Given the description of an element on the screen output the (x, y) to click on. 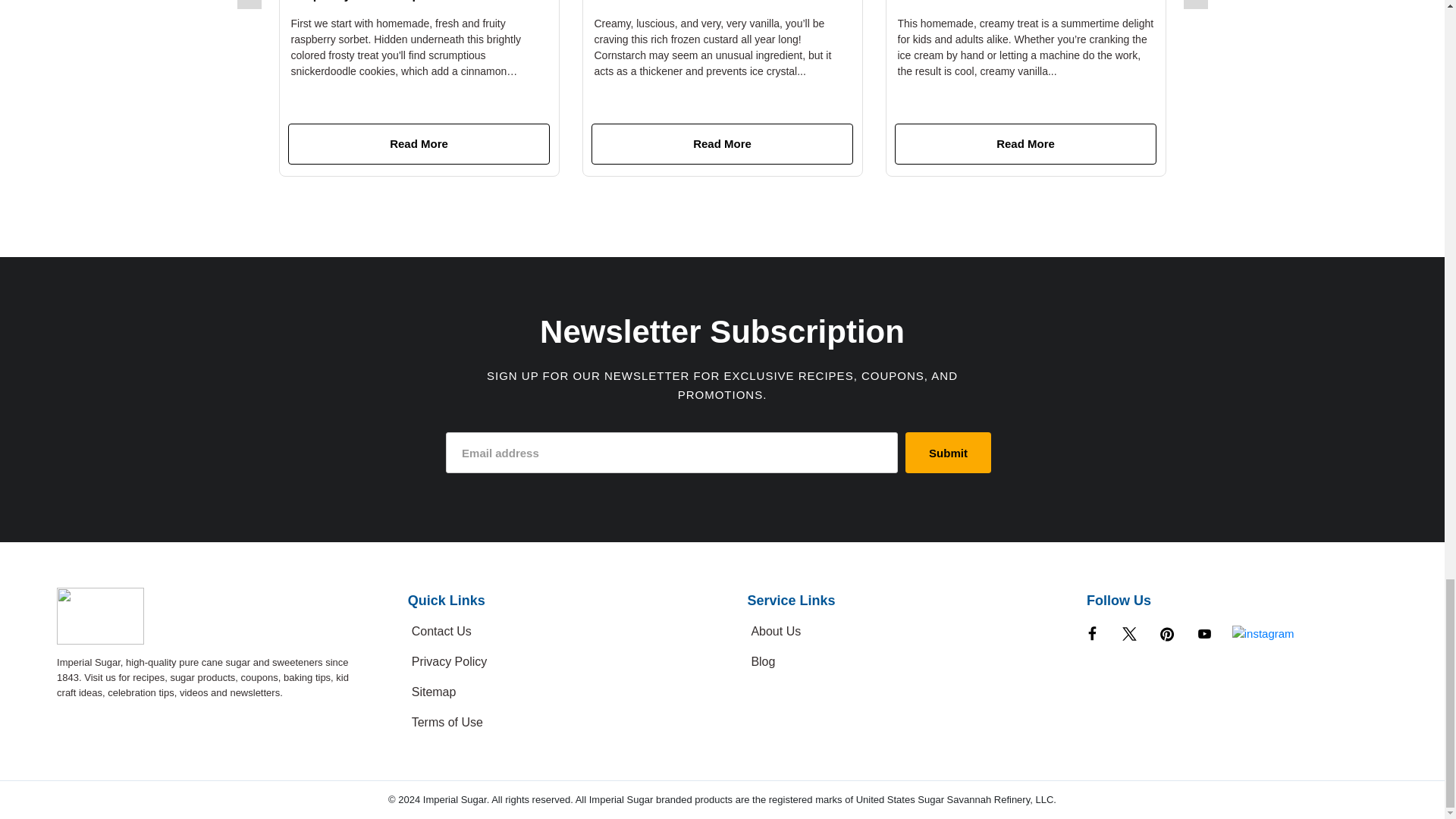
Submit (948, 453)
